Given the description of an element on the screen output the (x, y) to click on. 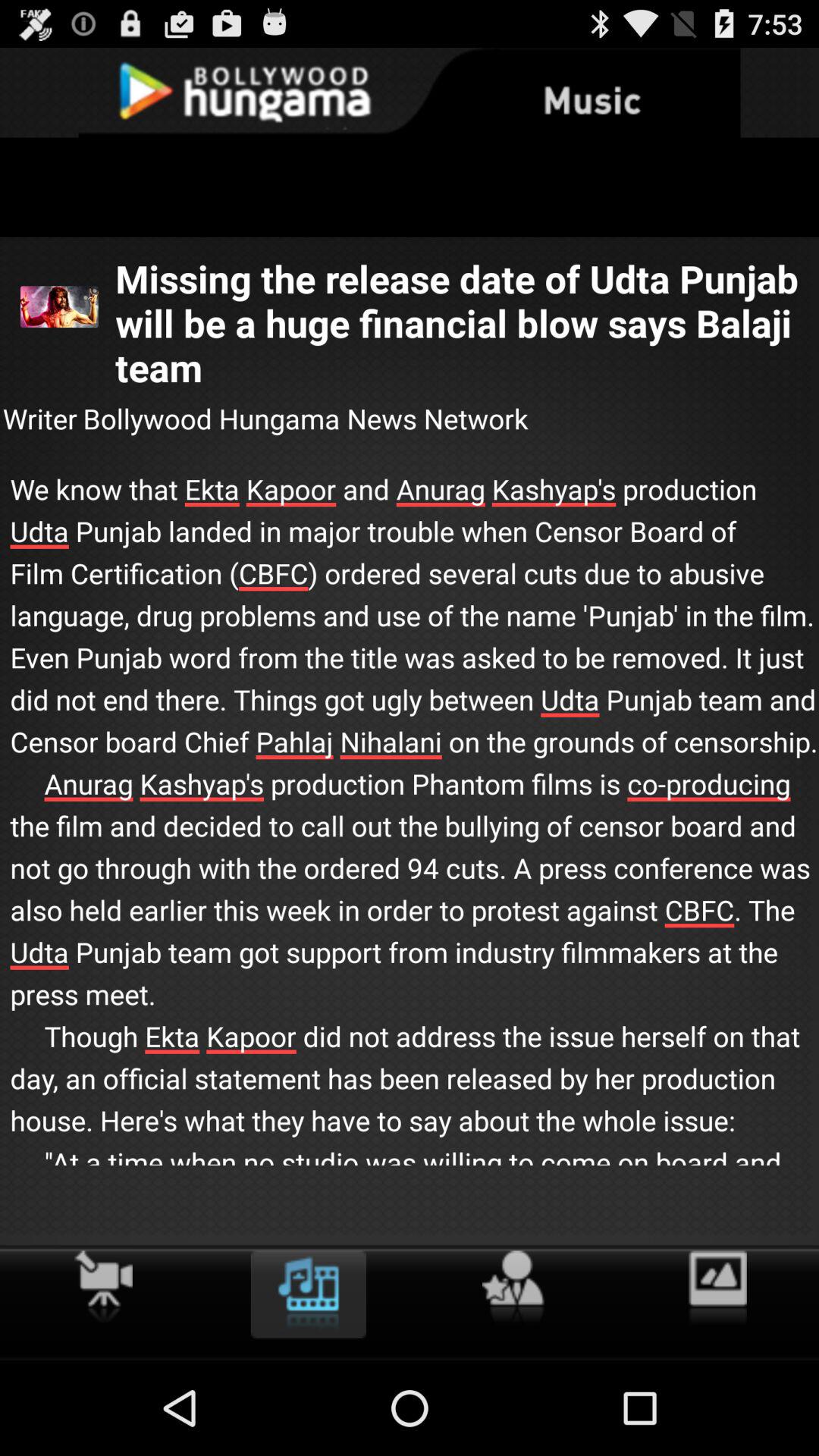
open the item below we know that icon (717, 1288)
